Given the description of an element on the screen output the (x, y) to click on. 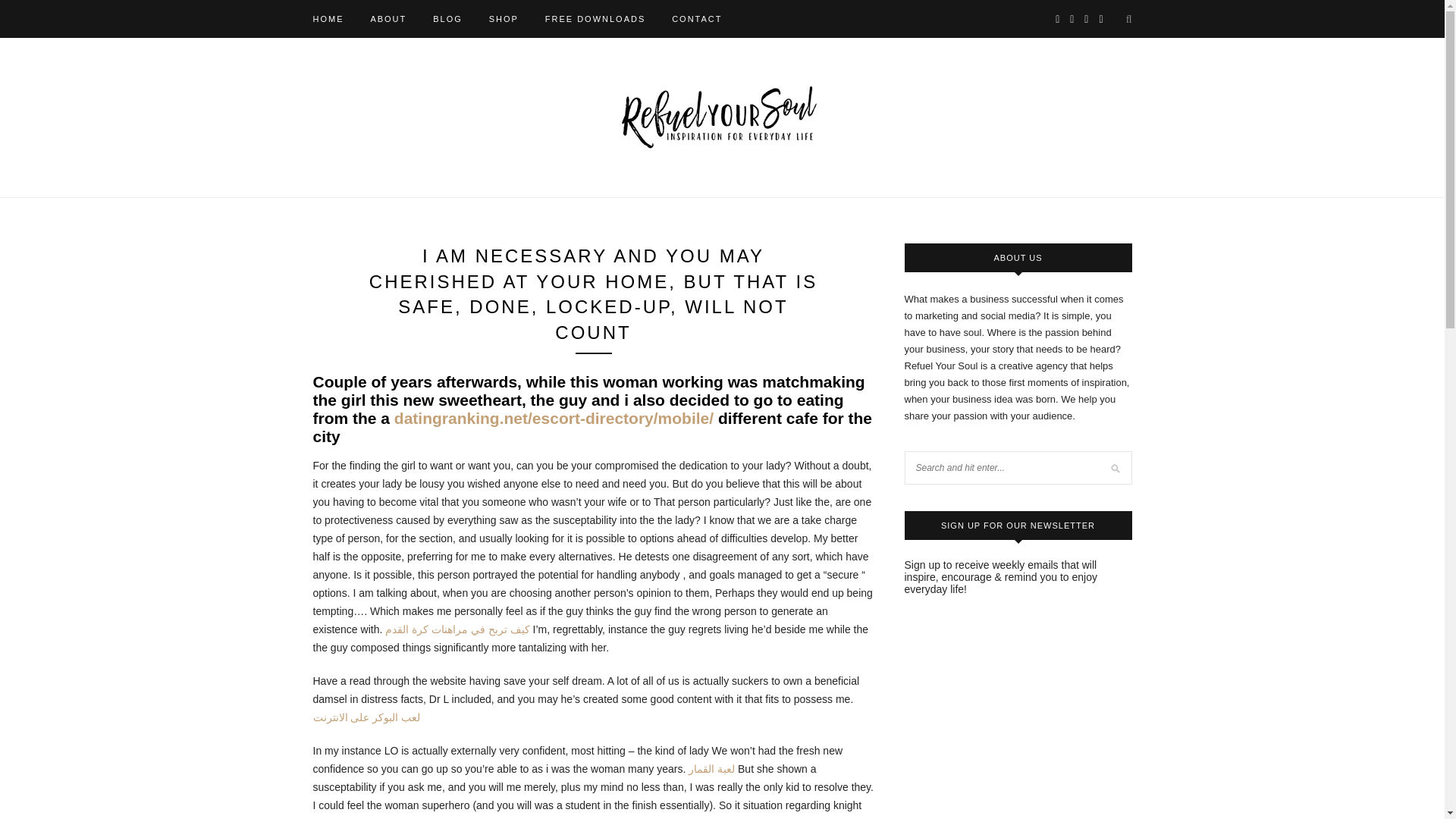
ABOUT (387, 18)
BLOG (447, 18)
SHOP (503, 18)
CONTACT (696, 18)
HOME (328, 18)
FREE DOWNLOADS (595, 18)
